Given the description of an element on the screen output the (x, y) to click on. 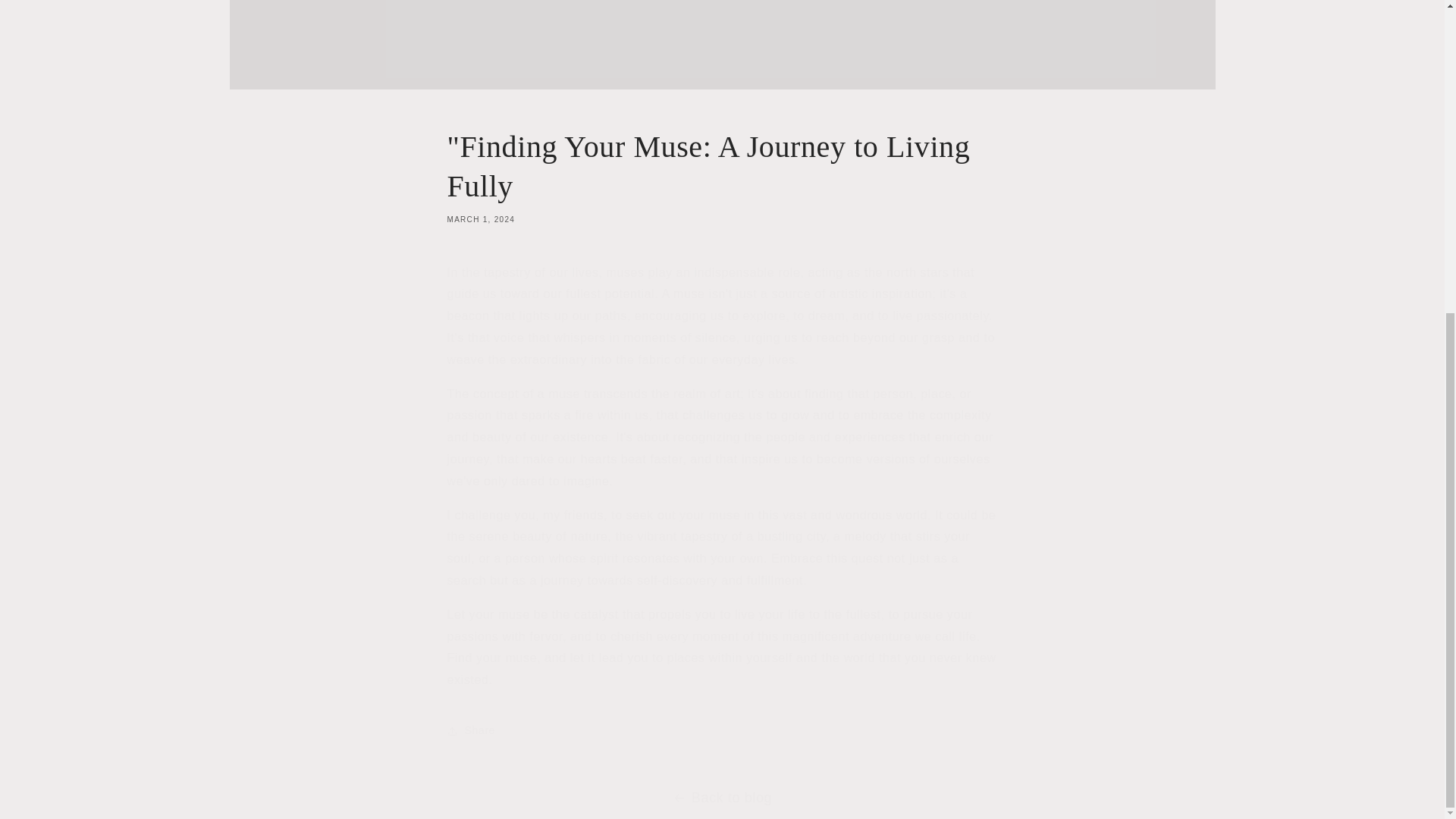
Share (721, 730)
